Given the description of an element on the screen output the (x, y) to click on. 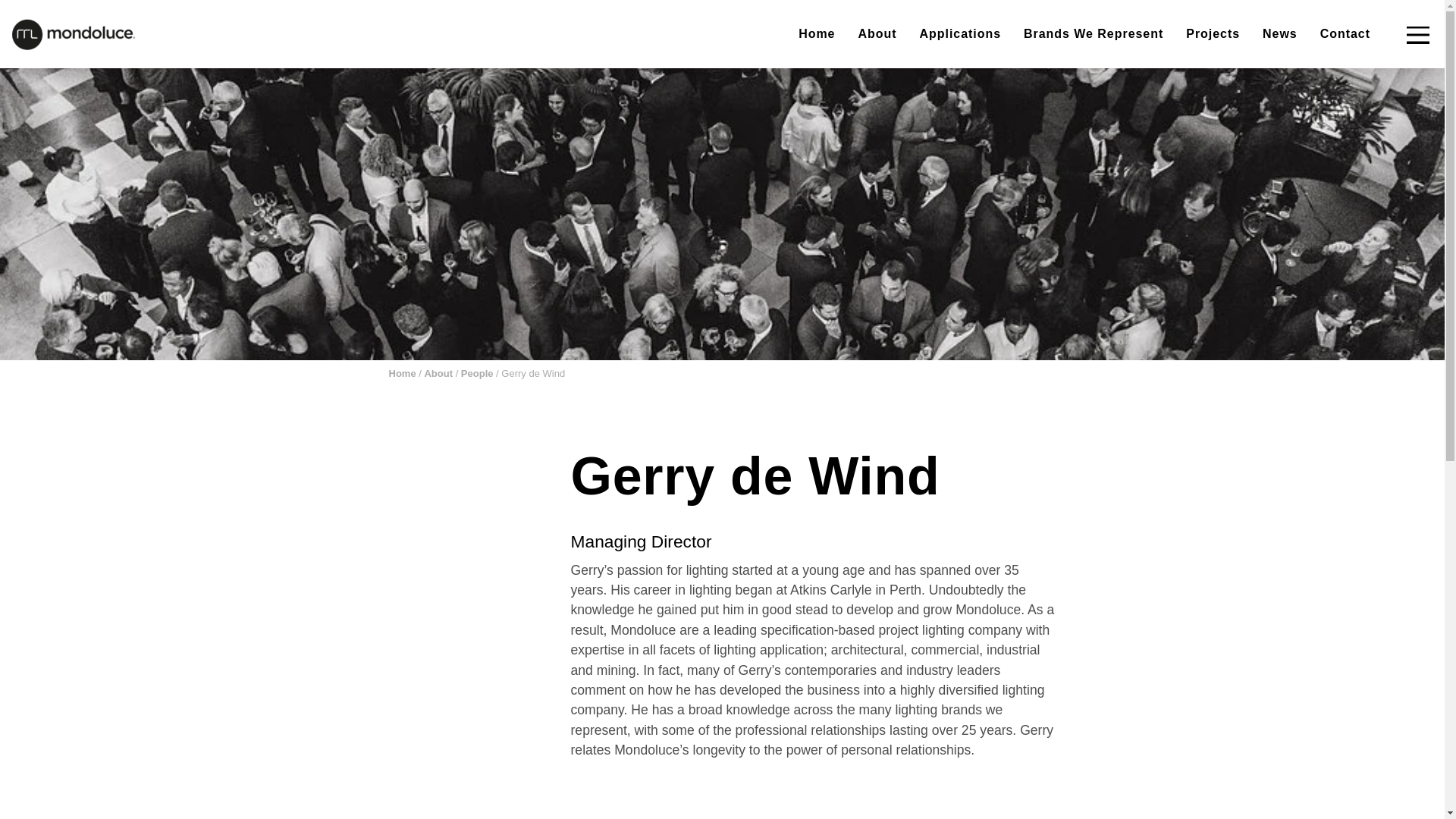
About (876, 33)
Brands We Represent (1093, 33)
Go to About. (437, 373)
Projects (1212, 33)
Home (816, 33)
Contact (1345, 33)
Menu (1417, 34)
Go to Mondoluce. (401, 373)
Go to People. (477, 373)
Applications (960, 33)
News (1280, 33)
